Given the description of an element on the screen output the (x, y) to click on. 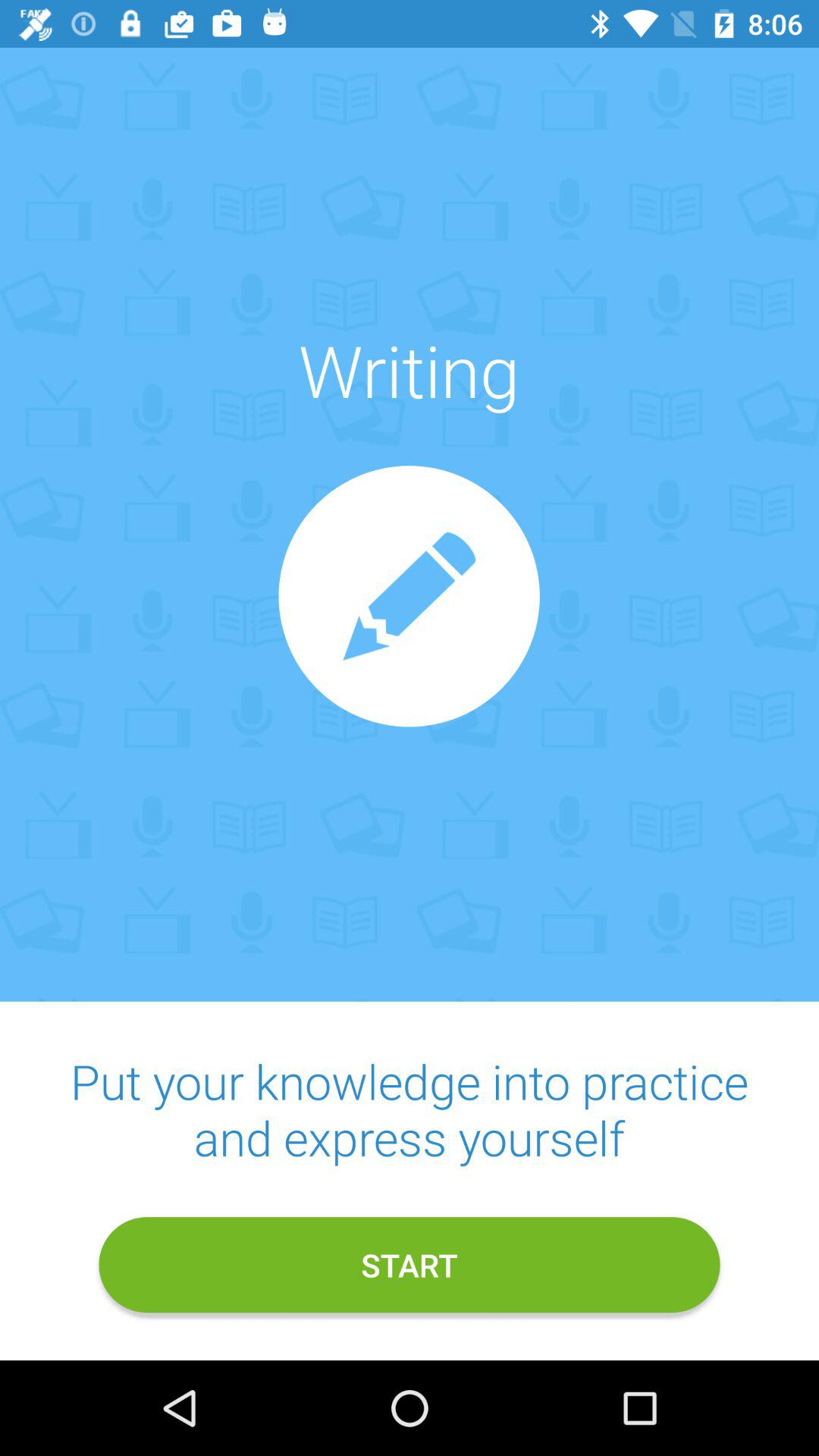
jump to start icon (409, 1264)
